Given the description of an element on the screen output the (x, y) to click on. 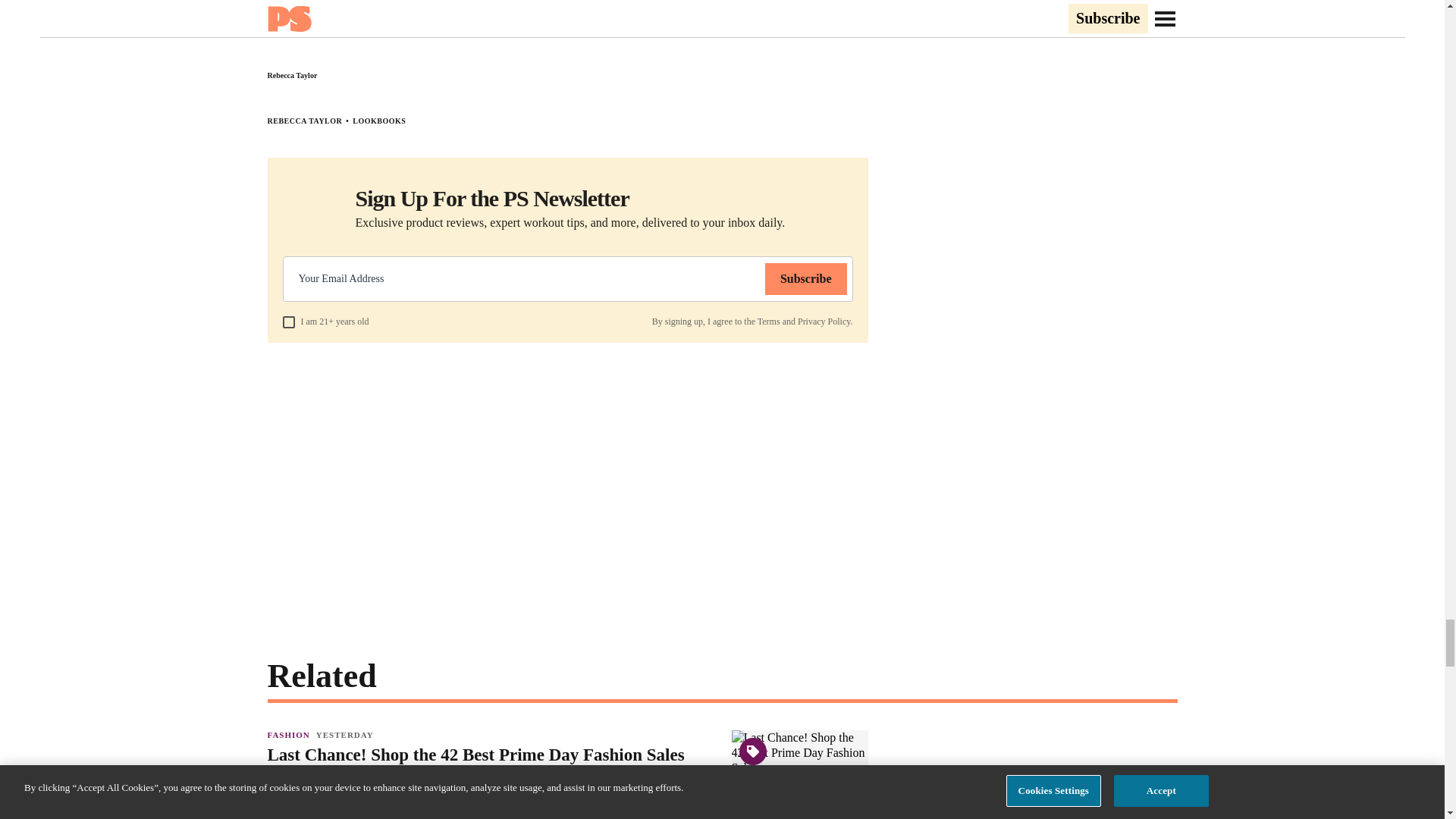
FASHION (290, 734)
Terms (768, 321)
REBECCA TAYLOR (304, 121)
Subscribe (806, 278)
Privacy Policy. (825, 321)
Last Chance! Shop the 42 Best Prime Day Fashion Sales (491, 754)
LOOKBOOKS (379, 121)
